Given the description of an element on the screen output the (x, y) to click on. 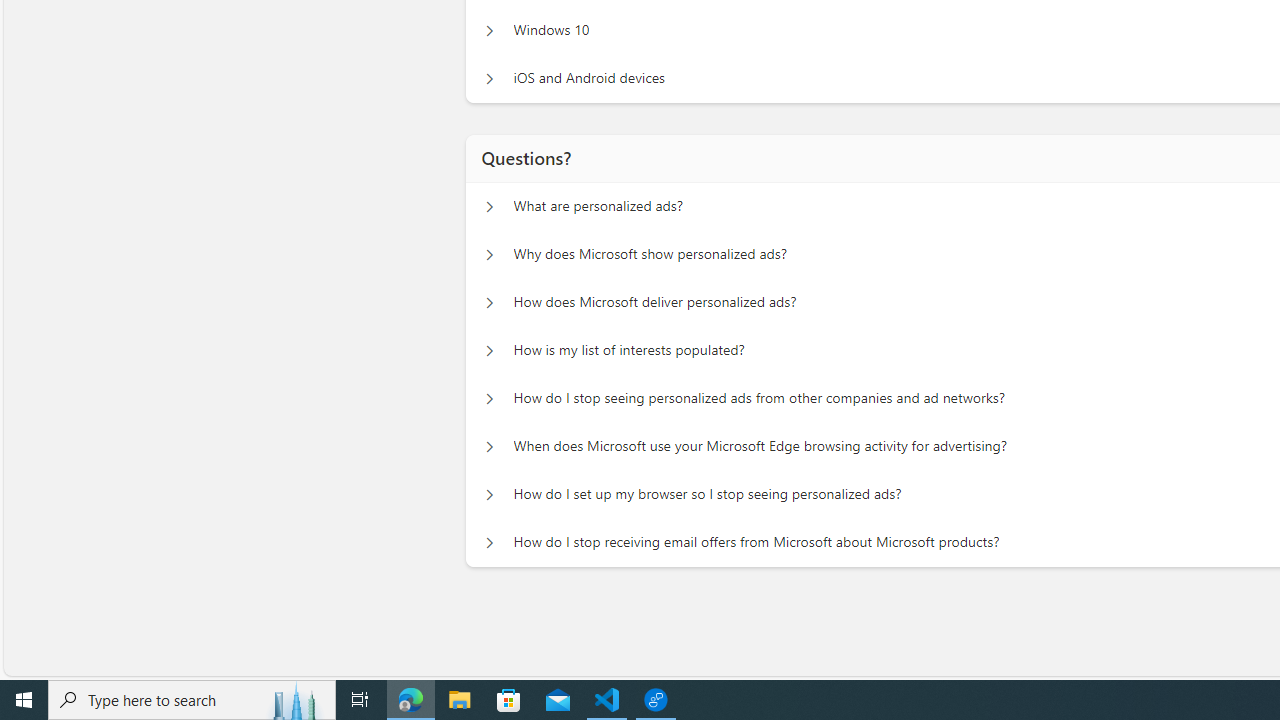
Questions? What are personalized ads? (489, 206)
Questions? How does Microsoft deliver personalized ads? (489, 302)
Questions? Why does Microsoft show personalized ads? (489, 255)
Questions? How is my list of interests populated? (489, 350)
Manage personalized ads on your device Windows 10 (489, 30)
